Given the description of an element on the screen output the (x, y) to click on. 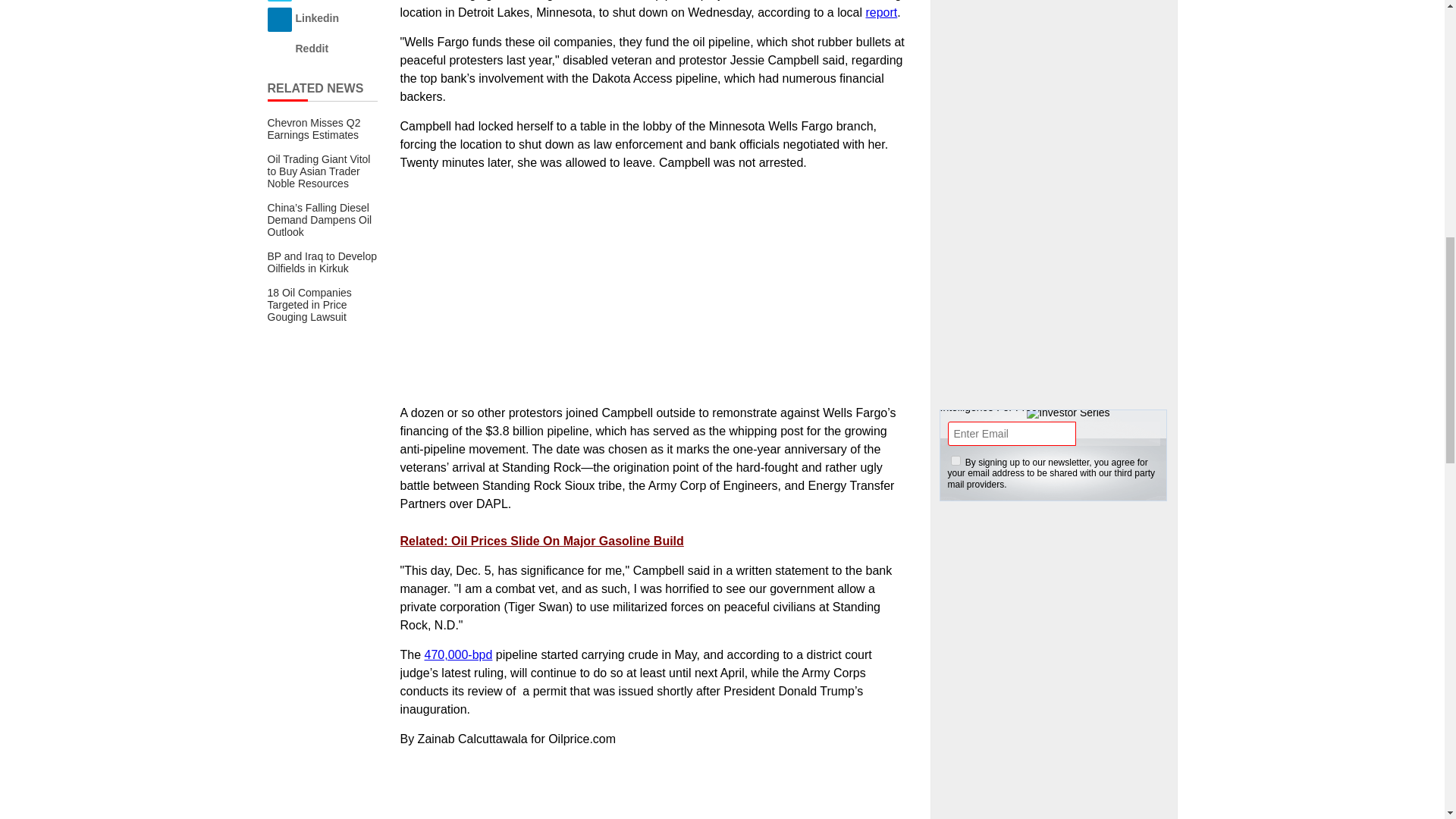
1 (955, 460)
